Given the description of an element on the screen output the (x, y) to click on. 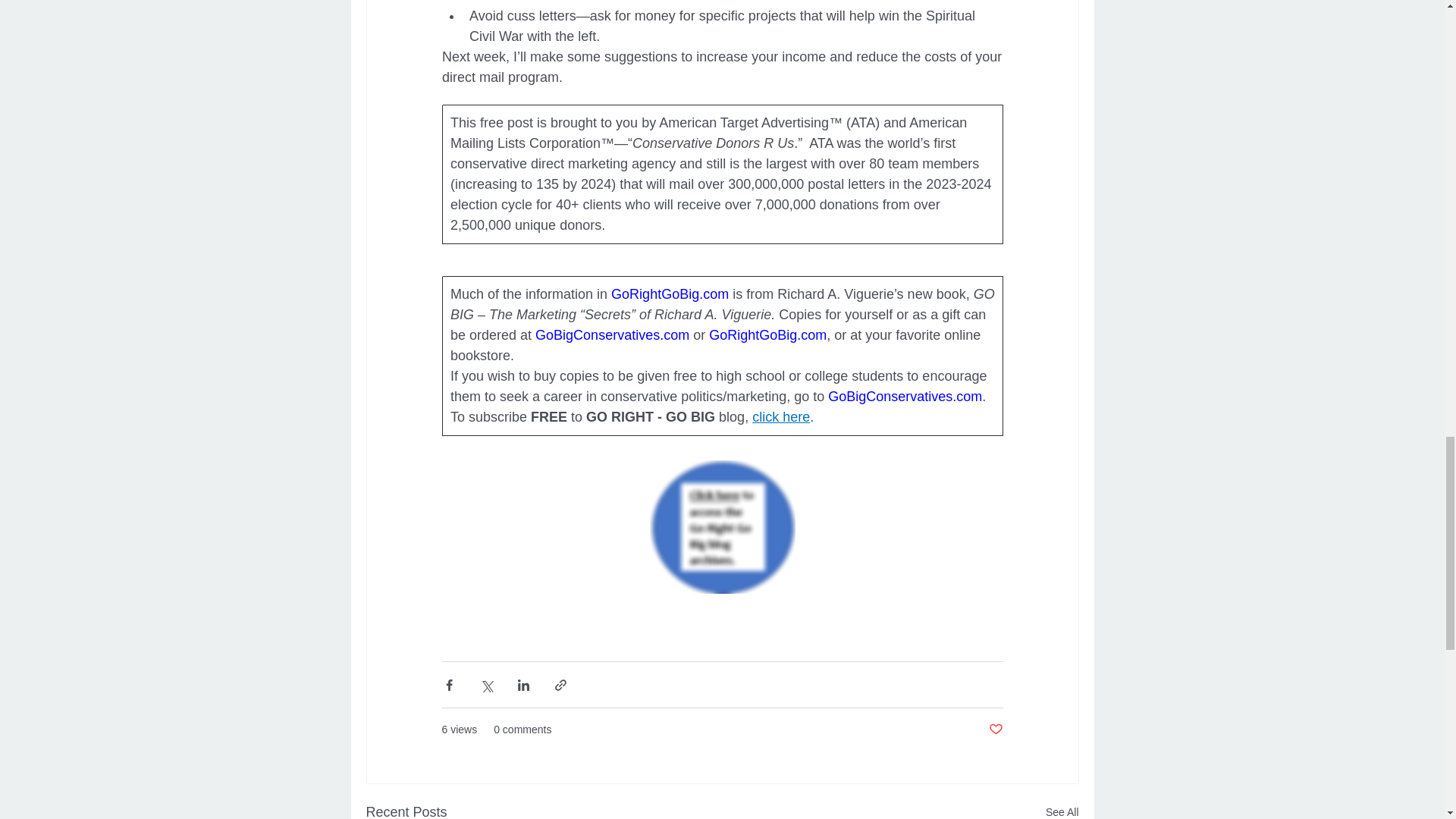
GoBigConservatives.com (611, 335)
GoRightGoBig.com (768, 335)
GoRightGoBig.com (670, 294)
Post not marked as liked (995, 729)
See All (1061, 810)
GoBigConservatives.com (904, 396)
